Given the description of an element on the screen output the (x, y) to click on. 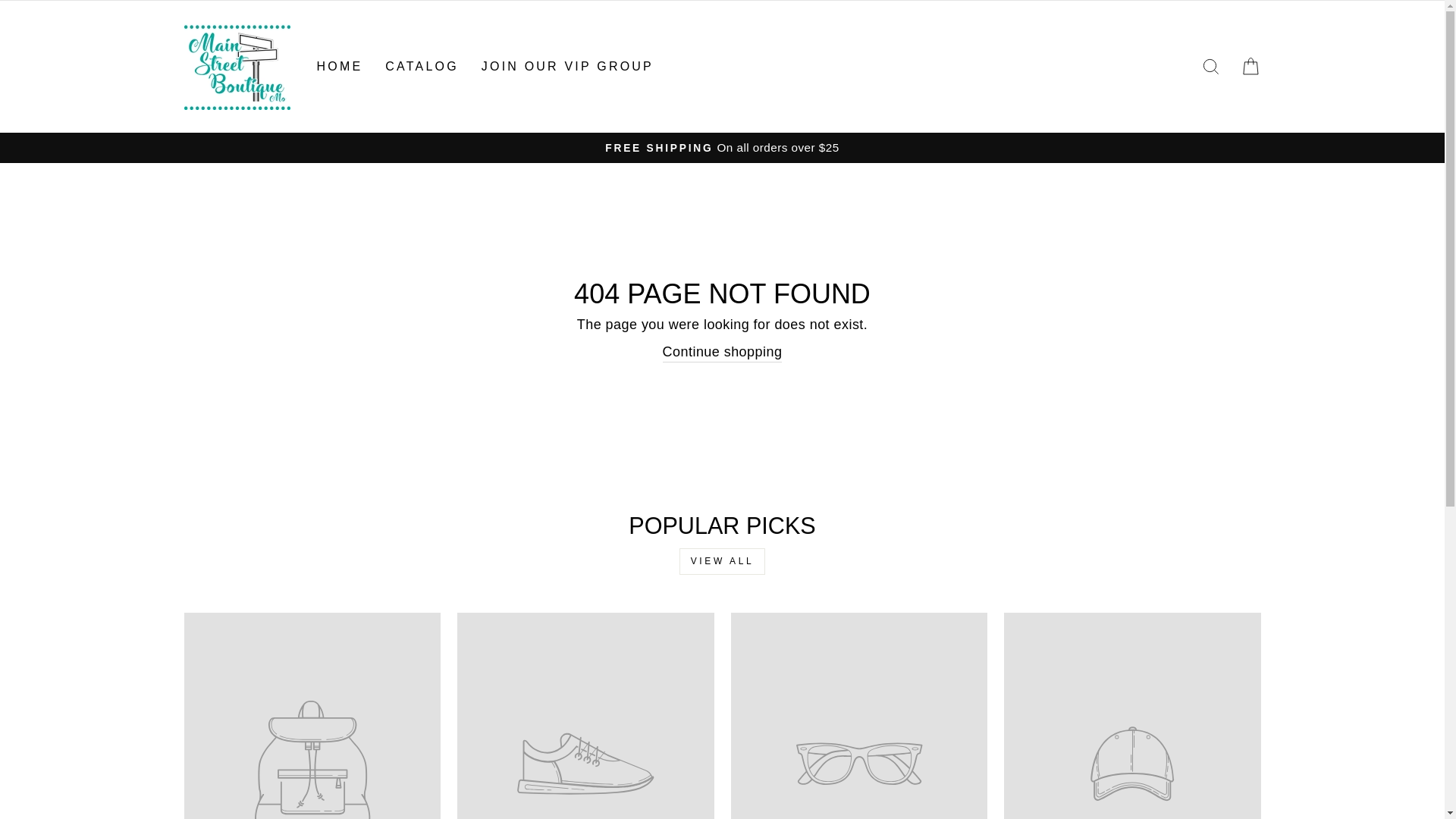
CATALOG (422, 66)
Continue shopping (722, 352)
VIEW ALL (722, 560)
CART (1249, 66)
ICON-SEARCH (1210, 66)
JOIN OUR VIP GROUP (1210, 66)
HOME (567, 66)
